Given the description of an element on the screen output the (x, y) to click on. 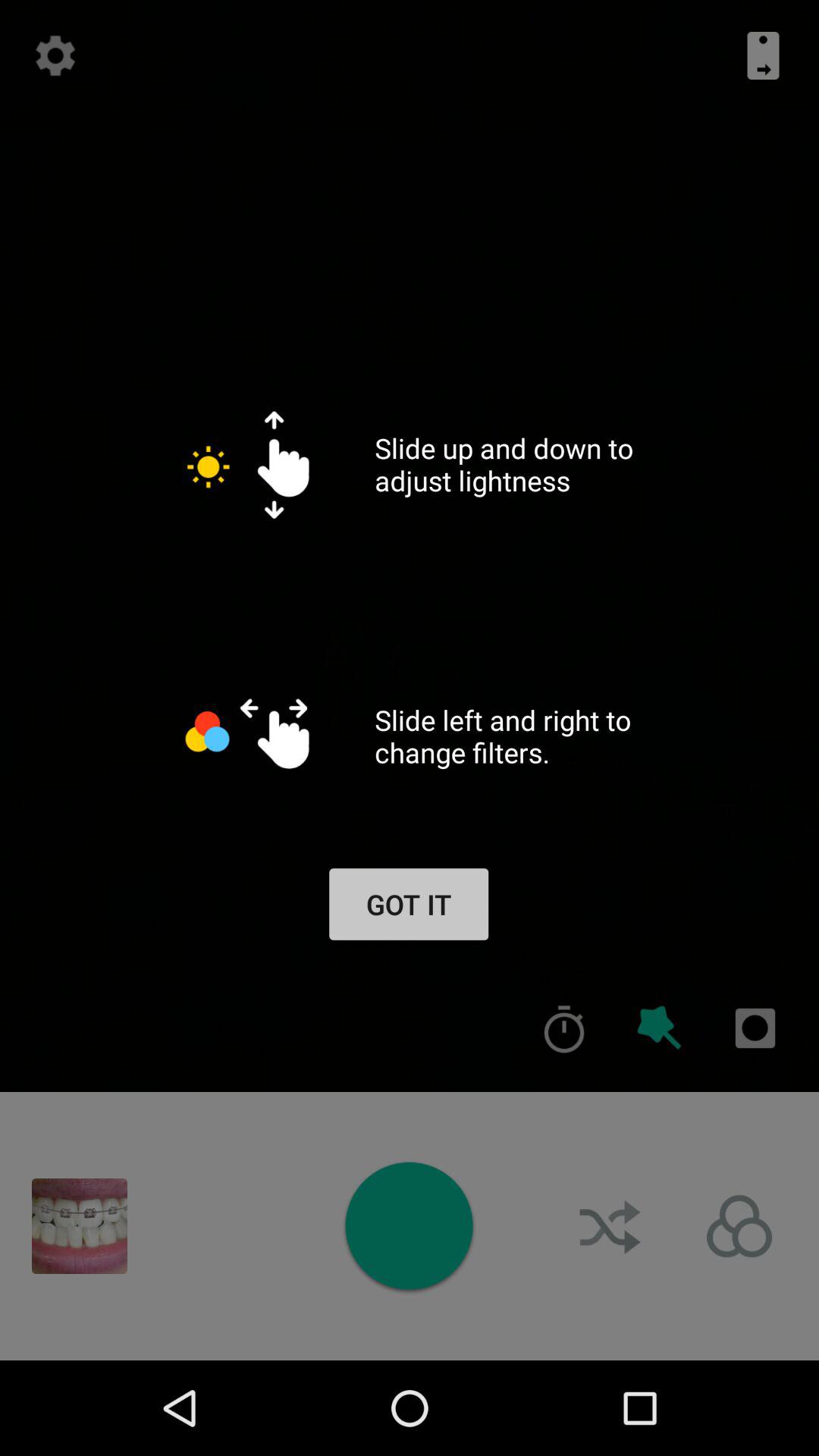
tap app below the slide left and (408, 904)
